Given the description of an element on the screen output the (x, y) to click on. 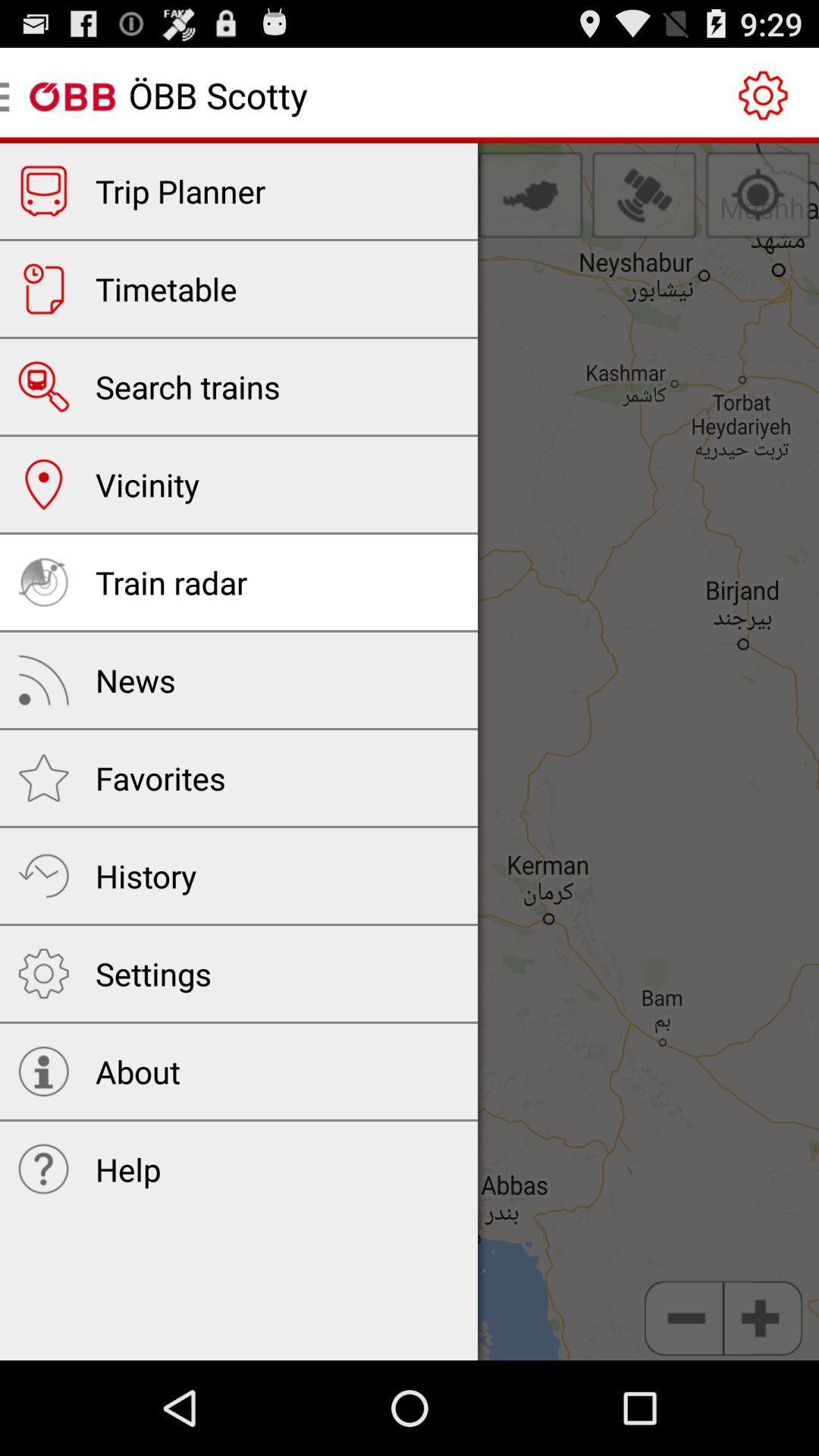
click the news item (135, 680)
